Given the description of an element on the screen output the (x, y) to click on. 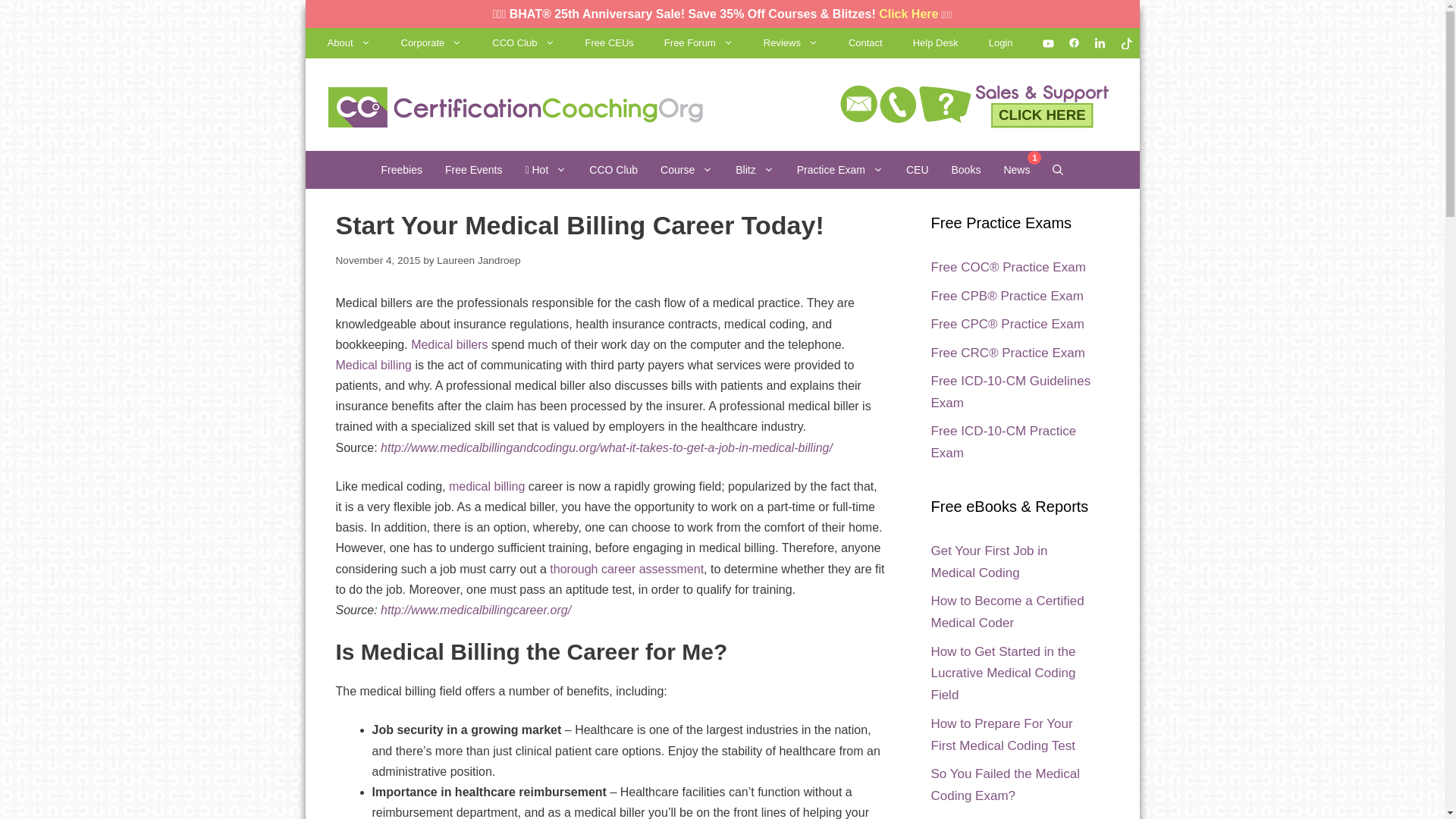
About (349, 42)
View all posts by Laureen Jandroep (477, 260)
CCO Club (523, 42)
Click Here (908, 13)
How to Get Started in the Lucrative Medical Coding Field (1003, 673)
Contact (865, 42)
So You Failed the Medical Coding Exam? (1005, 784)
Help Desk (936, 42)
Corporate (431, 42)
How to Prepare For Your First Medical Coding Test (1003, 734)
Reviews (790, 42)
Free Forum (698, 42)
Free CEUs (609, 42)
Login (1000, 42)
Test Your Practice Management IQ Checklist (1005, 817)
